Given the description of an element on the screen output the (x, y) to click on. 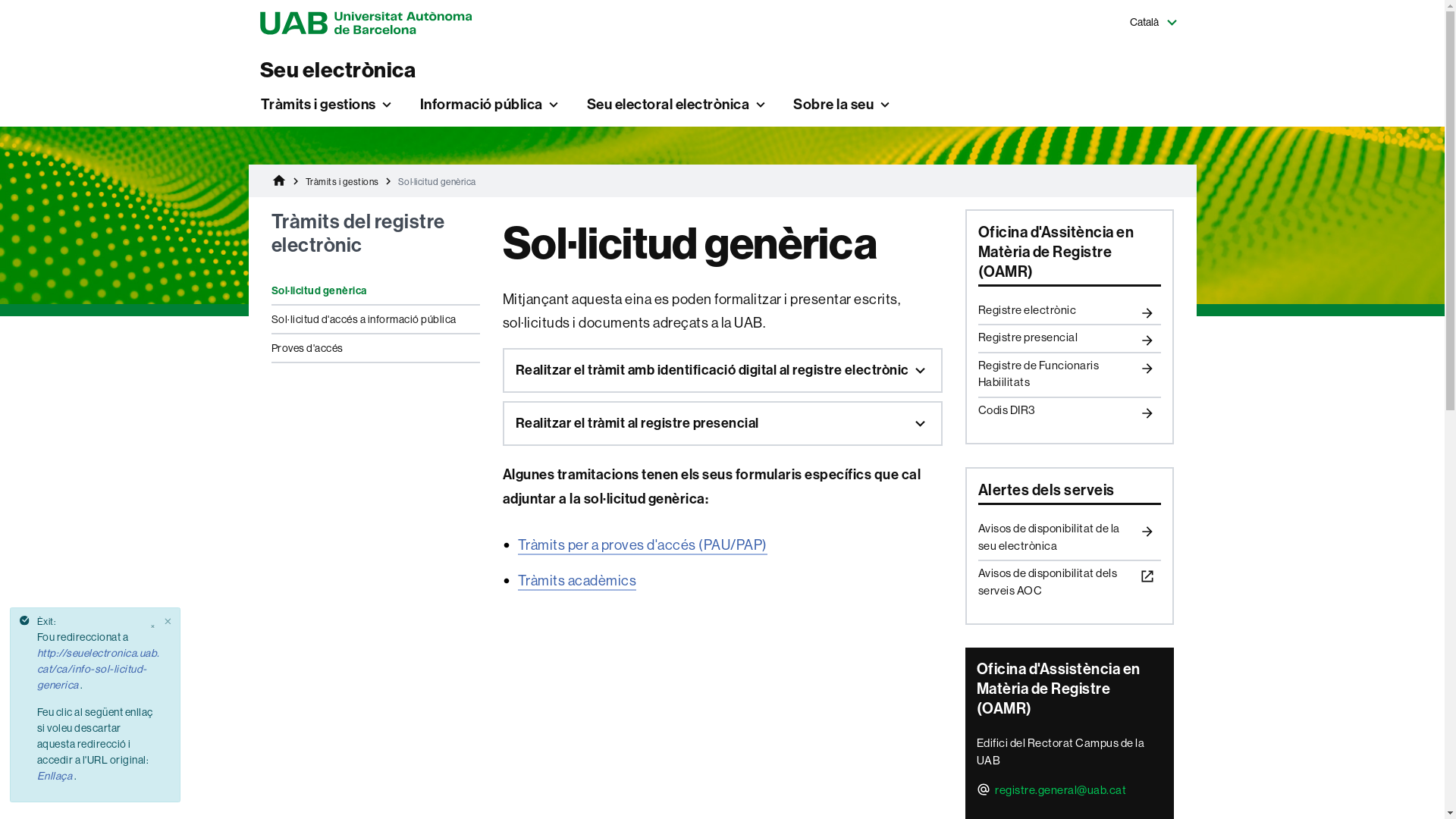
Registre presencial Element type: text (1069, 338)
http://seuelectronica.uab.cat/ca/info-sol-licitud-generica Element type: text (97, 668)
Registre de Funcionaris Habiilitats Element type: text (1069, 374)
Codis DIR3 Element type: text (1069, 411)
registre.general@uab.cat Element type: text (1051, 791)
Avisos de disponibilitat dels serveis AOC Element type: text (1069, 582)
Inici Element type: text (279, 181)
Sobre la seu Element type: text (843, 103)
